Given the description of an element on the screen output the (x, y) to click on. 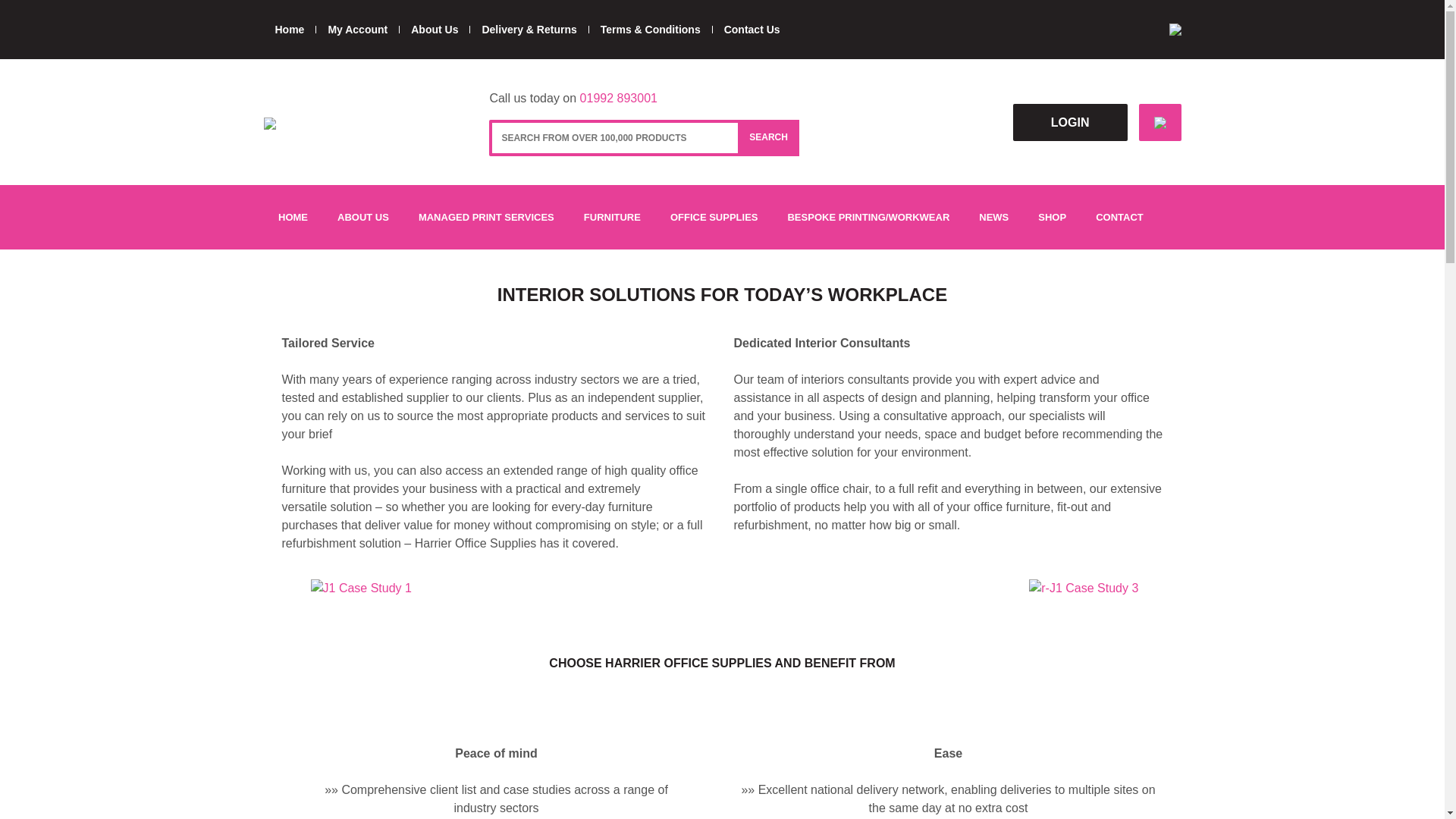
search (768, 137)
CONTACT (1119, 217)
01992 893001 (618, 97)
J1 Case Study 1 (361, 588)
LOGIN (1069, 121)
Contact Us (751, 29)
NEWS (993, 217)
FURNITURE (612, 217)
OFFICE SUPPLIES (714, 217)
search (768, 137)
About Us (434, 29)
HOME (293, 217)
Home (289, 29)
ABOUT US (363, 217)
SHOP (1052, 217)
